Given the description of an element on the screen output the (x, y) to click on. 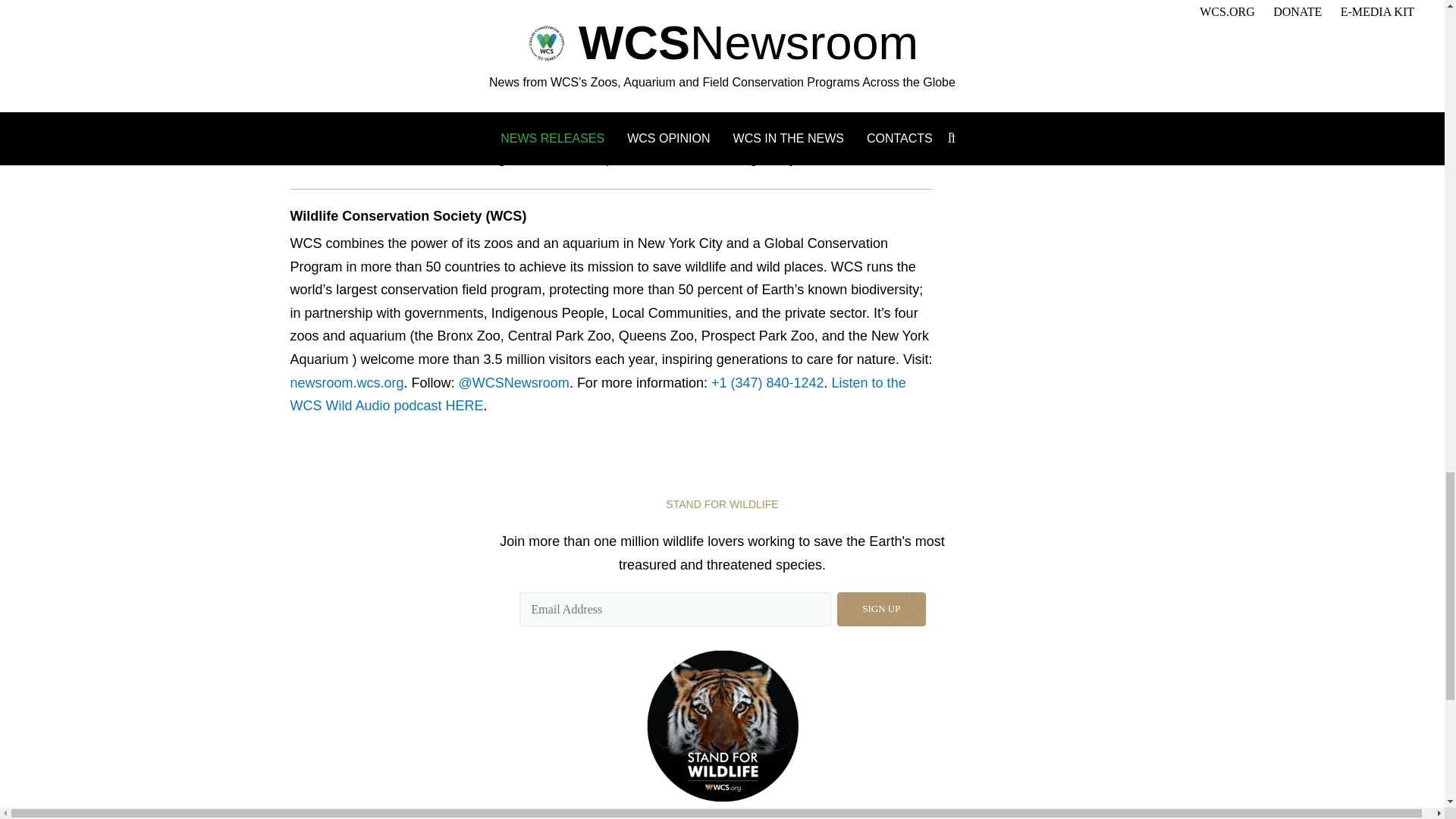
Listen to the WCS Wild Audio podcast HERE (597, 394)
newsroom.wcs.org (346, 382)
